Given the description of an element on the screen output the (x, y) to click on. 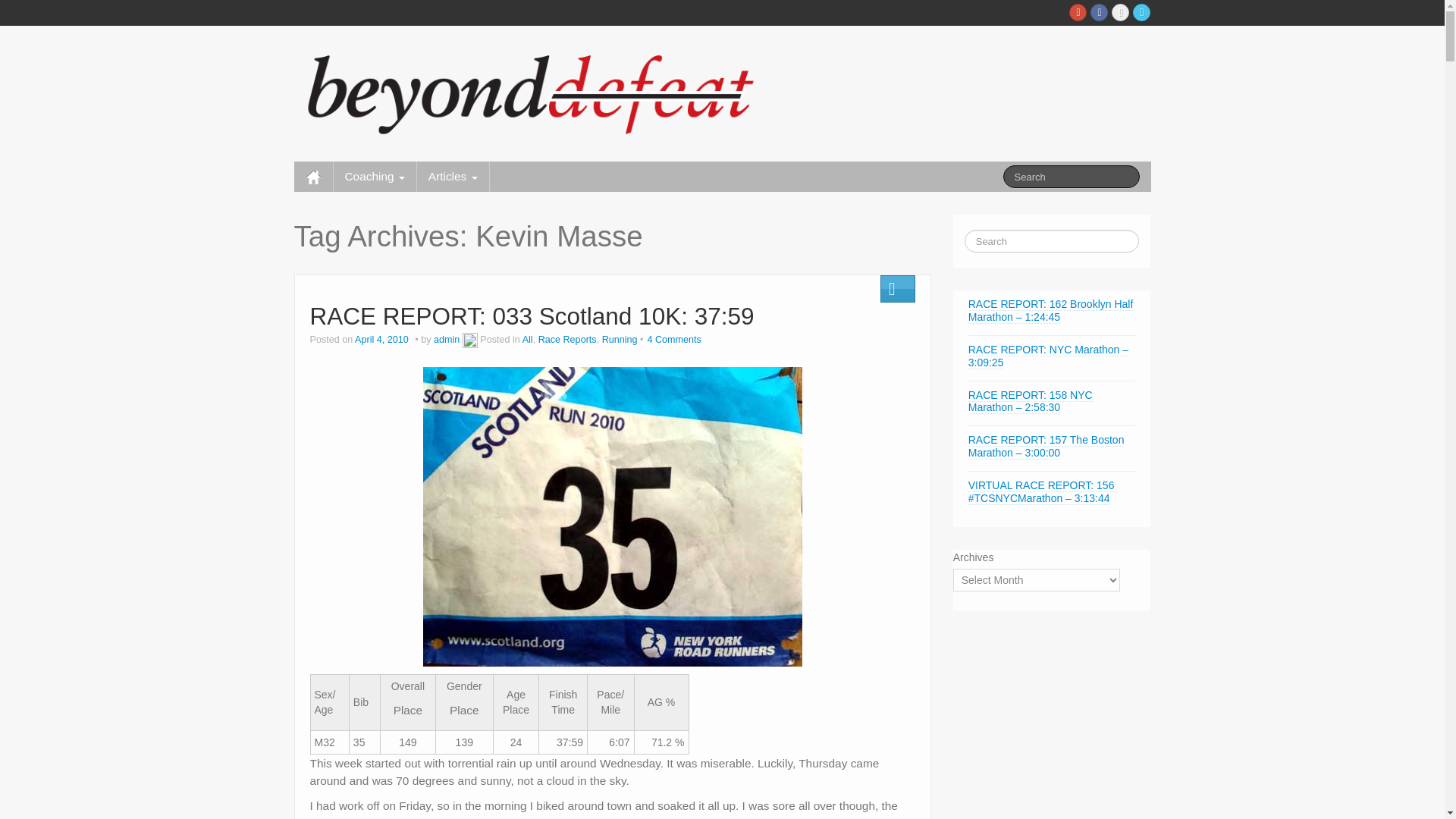
admin (446, 339)
Articles (452, 176)
Running (619, 339)
Coaching (374, 176)
BEYOND DEFEAT Facebook (1099, 12)
BEYOND DEFEAT (539, 91)
RACE REPORT: 033 Scotland 10K: 37:59 (531, 316)
Permalink to RACE REPORT: 033 Scotland 10K: 37:59 (531, 316)
View all posts by admin (470, 339)
6:23 pm (382, 339)
Race Reports (567, 339)
4 Comments (673, 339)
BEYOND DEFEAT Vimeo (1120, 12)
April 4, 2010 (382, 339)
View all posts by admin (446, 339)
